Given the description of an element on the screen output the (x, y) to click on. 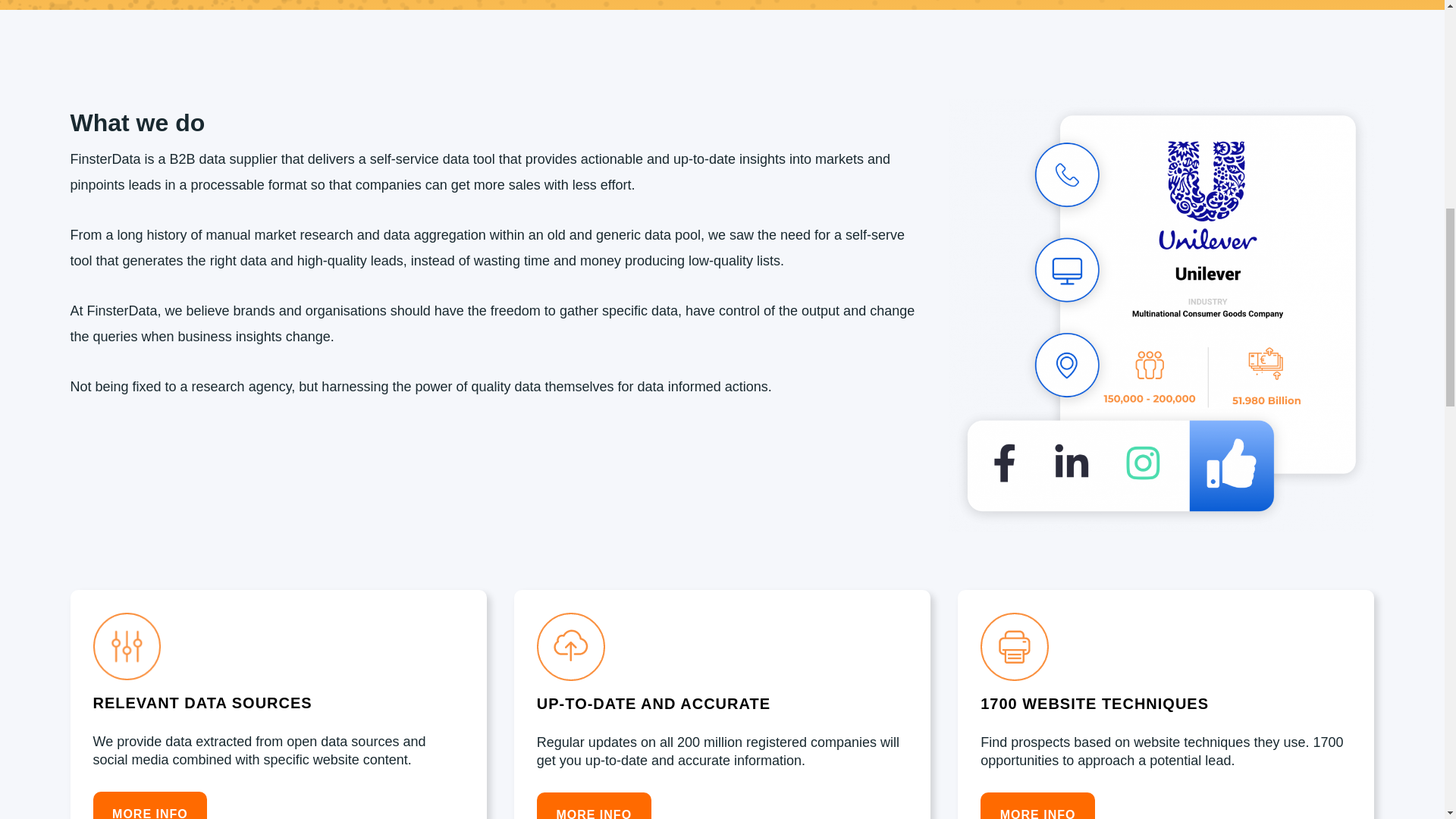
MORE INFO (593, 805)
MORE INFO (1036, 805)
MORE INFO (149, 805)
